Given the description of an element on the screen output the (x, y) to click on. 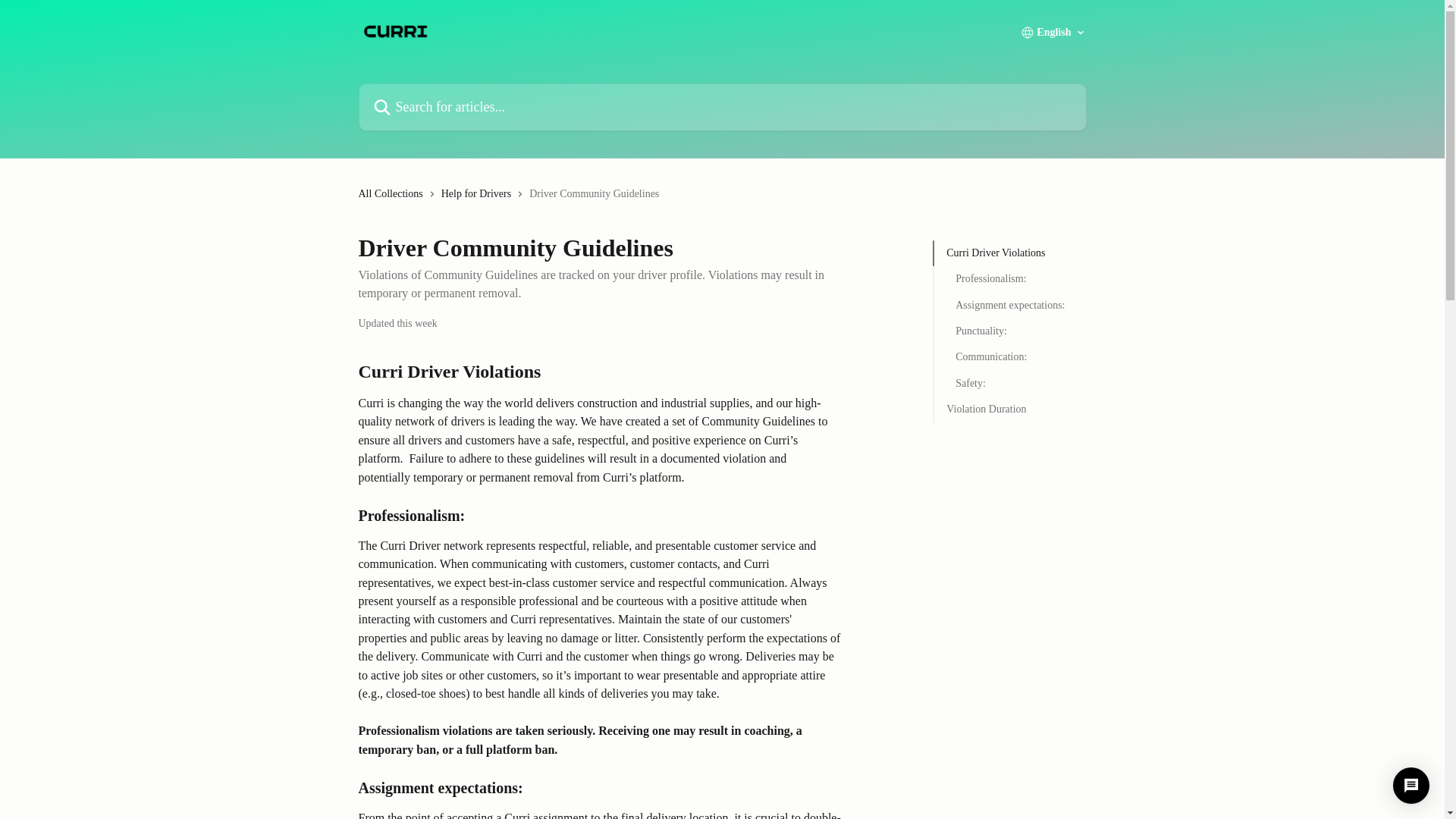
Help for Drivers (479, 193)
Violation Duration (1010, 409)
Safety: (1009, 383)
All Collections (393, 193)
Professionalism: (1009, 279)
Assignment expectations: (1009, 305)
Curri Driver Violations (1010, 252)
Punctuality: (1009, 330)
Communication: (1009, 356)
